Given the description of an element on the screen output the (x, y) to click on. 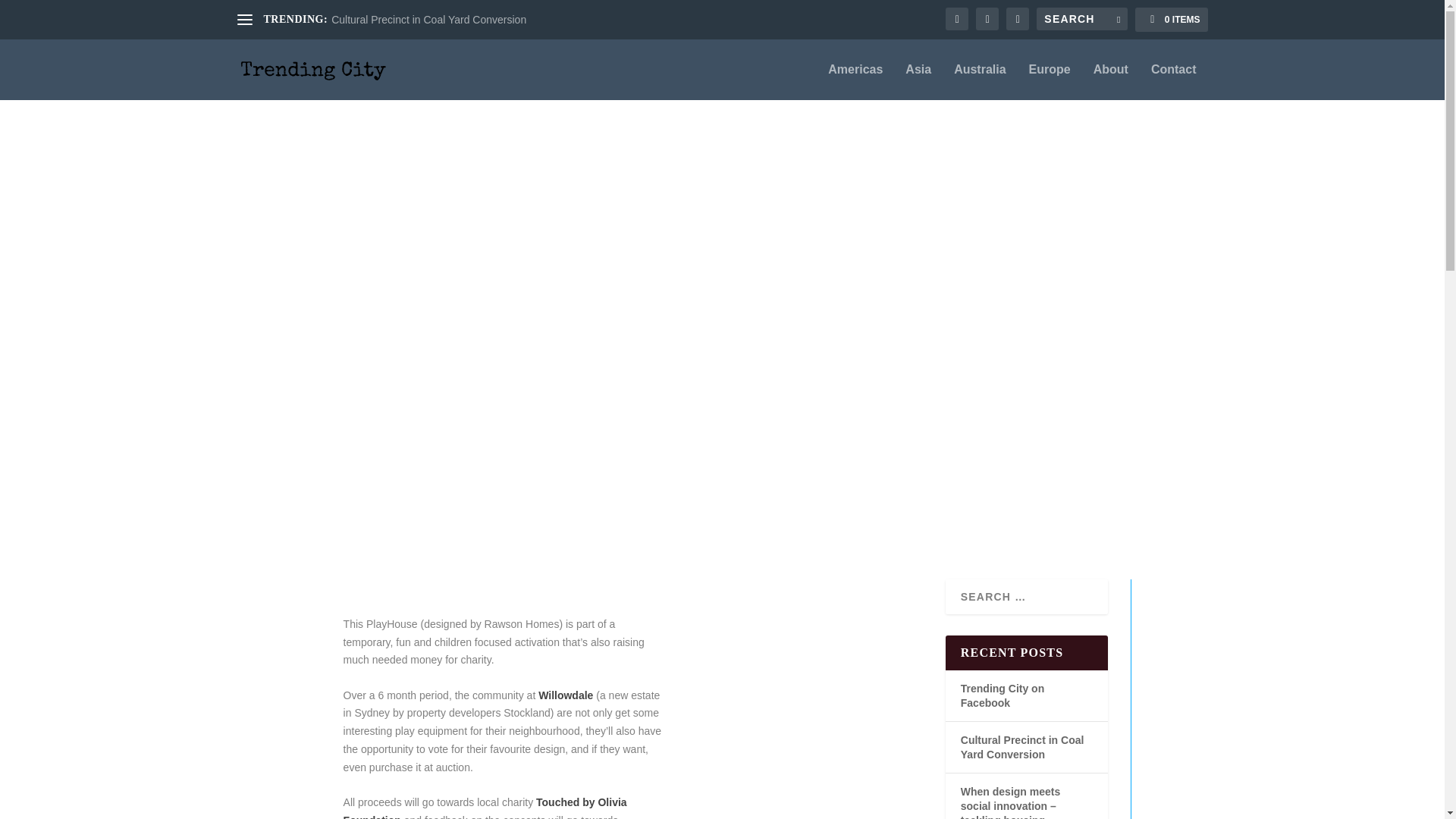
Willowdale (565, 695)
Jennifer Lenhart (446, 369)
Australia (979, 81)
Touched by Olivia Foundation (485, 807)
Search (31, 13)
Residential (723, 369)
Cultural Precinct in Coal Yard Conversion (428, 19)
Cultural Precinct in Coal Yard Conversion (1022, 746)
Europe (1049, 81)
Trending City on Facebook (1001, 695)
Posts by Jennifer Lenhart (446, 369)
About (1110, 81)
0 Items in Cart (1171, 19)
Australia (579, 369)
Housing (626, 369)
